Given the description of an element on the screen output the (x, y) to click on. 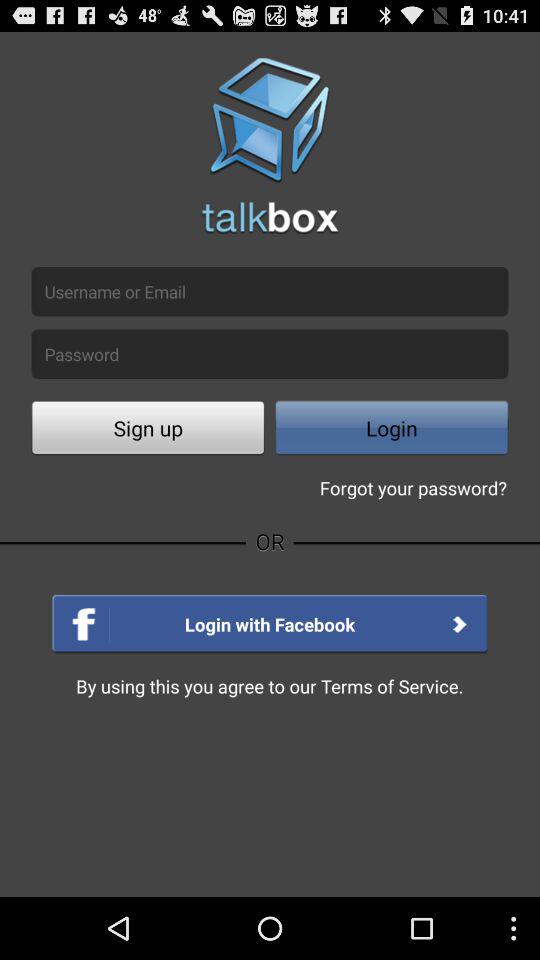
launch forgot your password? icon (413, 487)
